Given the description of an element on the screen output the (x, y) to click on. 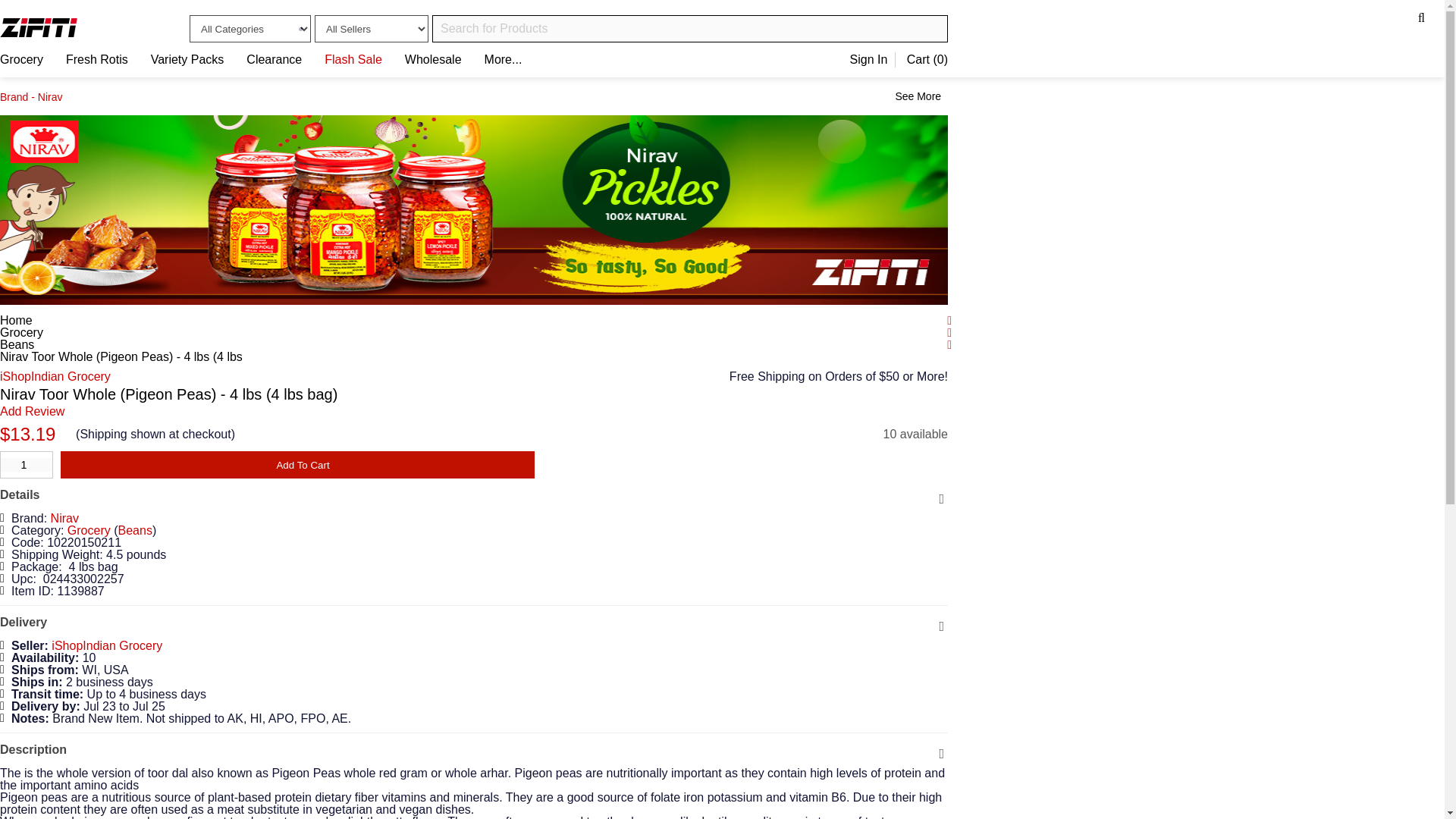
Flash Sale (352, 59)
Clearance (273, 59)
Sign In (869, 59)
Wholesale (432, 59)
See More  (919, 95)
Grocery (21, 59)
More... (503, 59)
Fresh Rotis (96, 59)
Variety Packs (473, 100)
1 (187, 59)
search (26, 464)
